Given the description of an element on the screen output the (x, y) to click on. 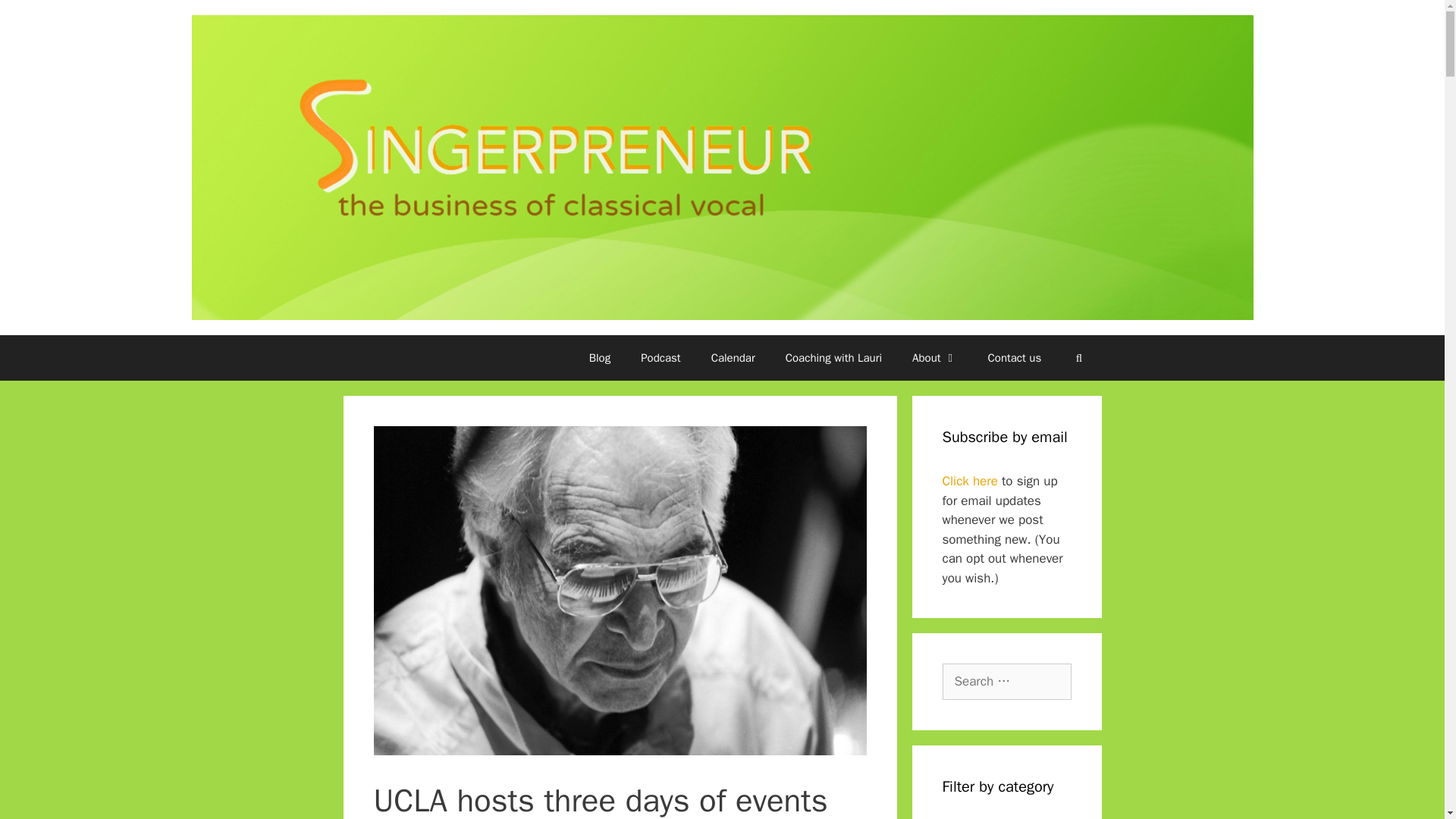
Coaching with Lauri (833, 357)
Contact us (1014, 357)
About (934, 357)
Blog (599, 357)
Podcast (660, 357)
Search for: (1006, 681)
Calendar (732, 357)
